Given the description of an element on the screen output the (x, y) to click on. 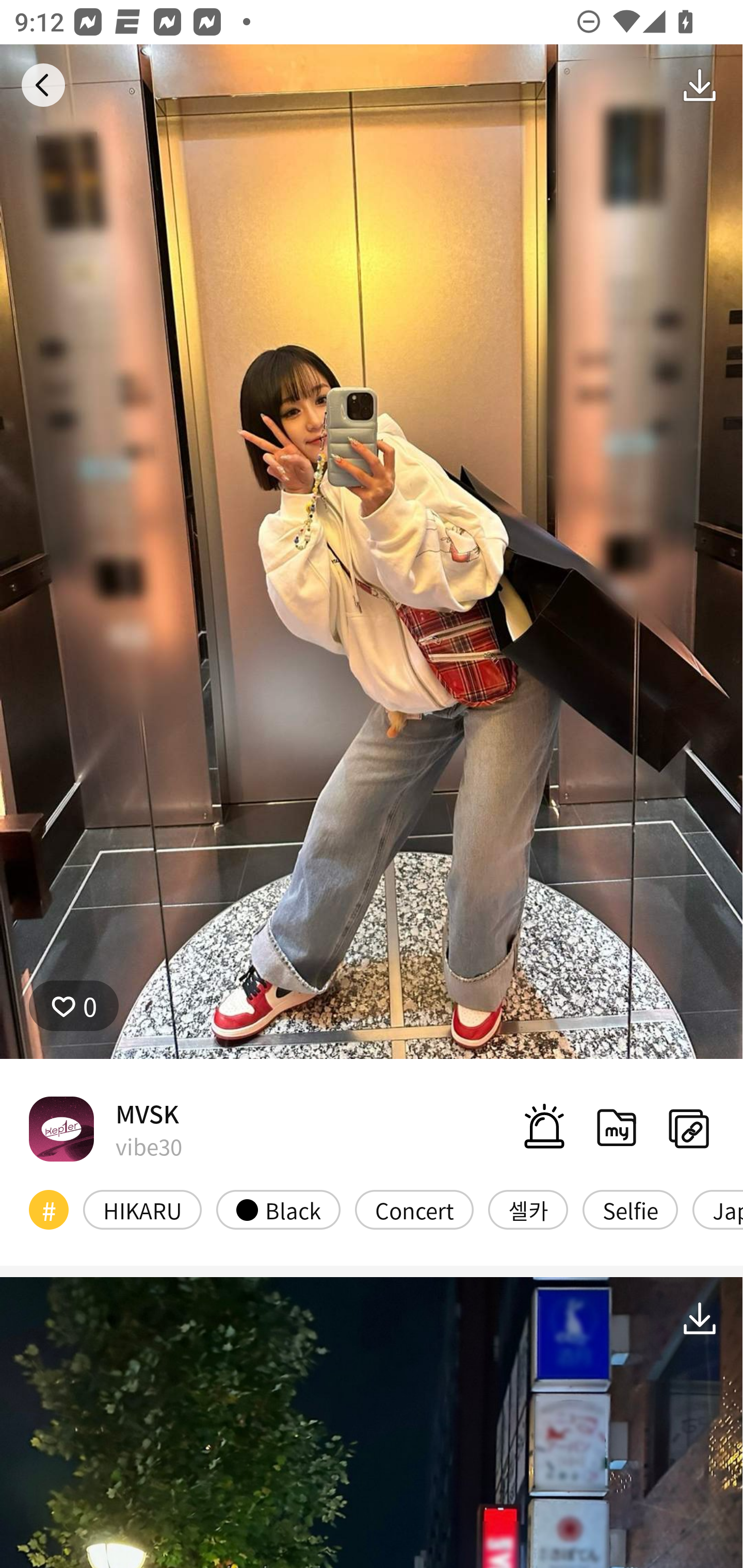
0 (73, 1005)
MVSK vibe30 (105, 1128)
HIKARU (142, 1209)
Black (278, 1209)
Concert (414, 1209)
셀카 (528, 1209)
Selfie (629, 1209)
